Given the description of an element on the screen output the (x, y) to click on. 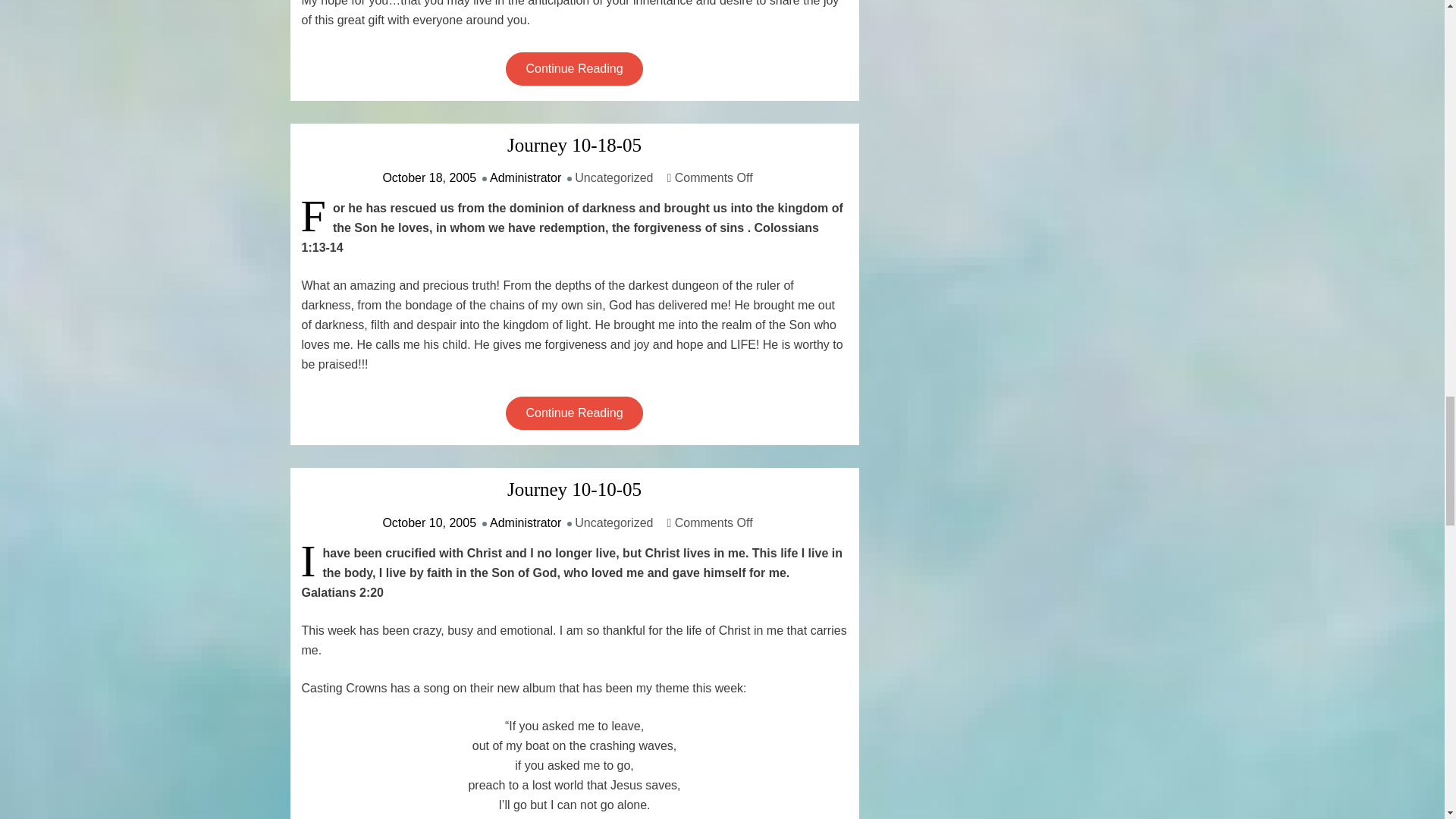
Continue Reading (573, 412)
Journey 10-18-05 (574, 145)
Journey 10-10-05 (574, 489)
Continue Reading (573, 68)
Administrator (524, 177)
October 18, 2005 (428, 177)
